Given the description of an element on the screen output the (x, y) to click on. 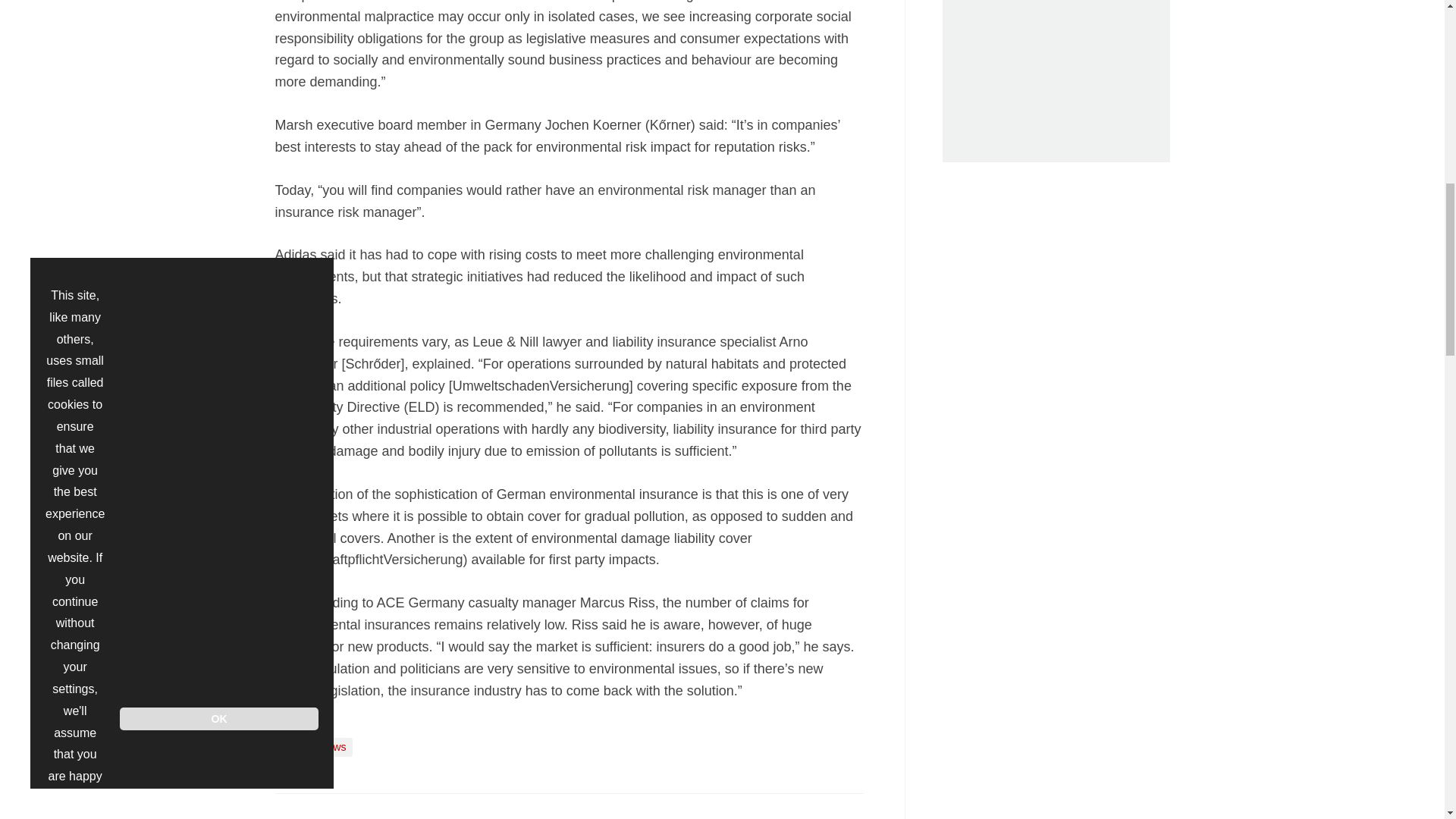
Email this article (386, 810)
Share this on Linked in (352, 810)
Share this on Facebook (288, 810)
Share this on Twitter (320, 810)
Cookie Policy (75, 77)
No comments (840, 817)
